Given the description of an element on the screen output the (x, y) to click on. 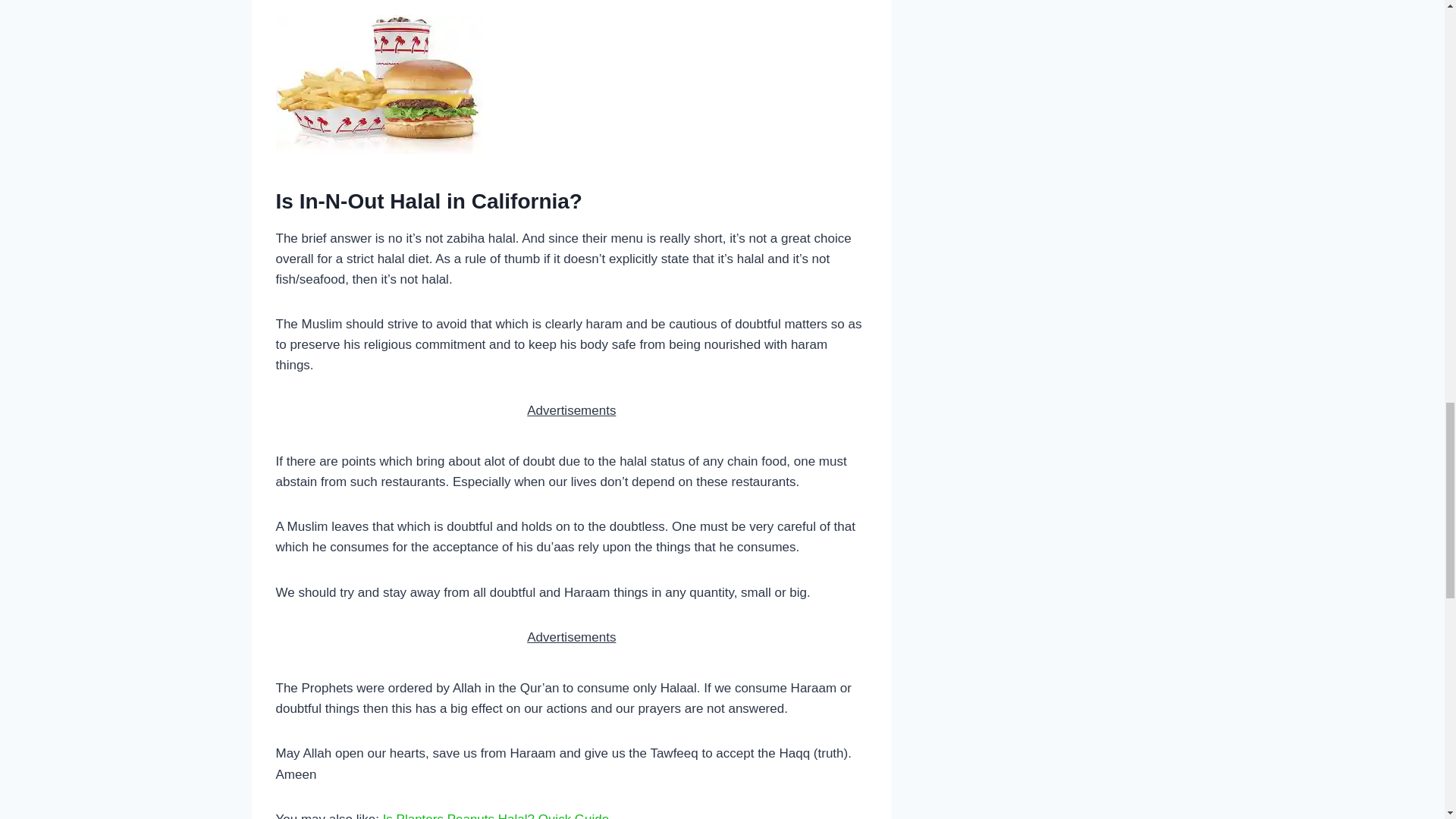
Is Planters Peanuts Halal? Quick Guide (496, 815)
